Given the description of an element on the screen output the (x, y) to click on. 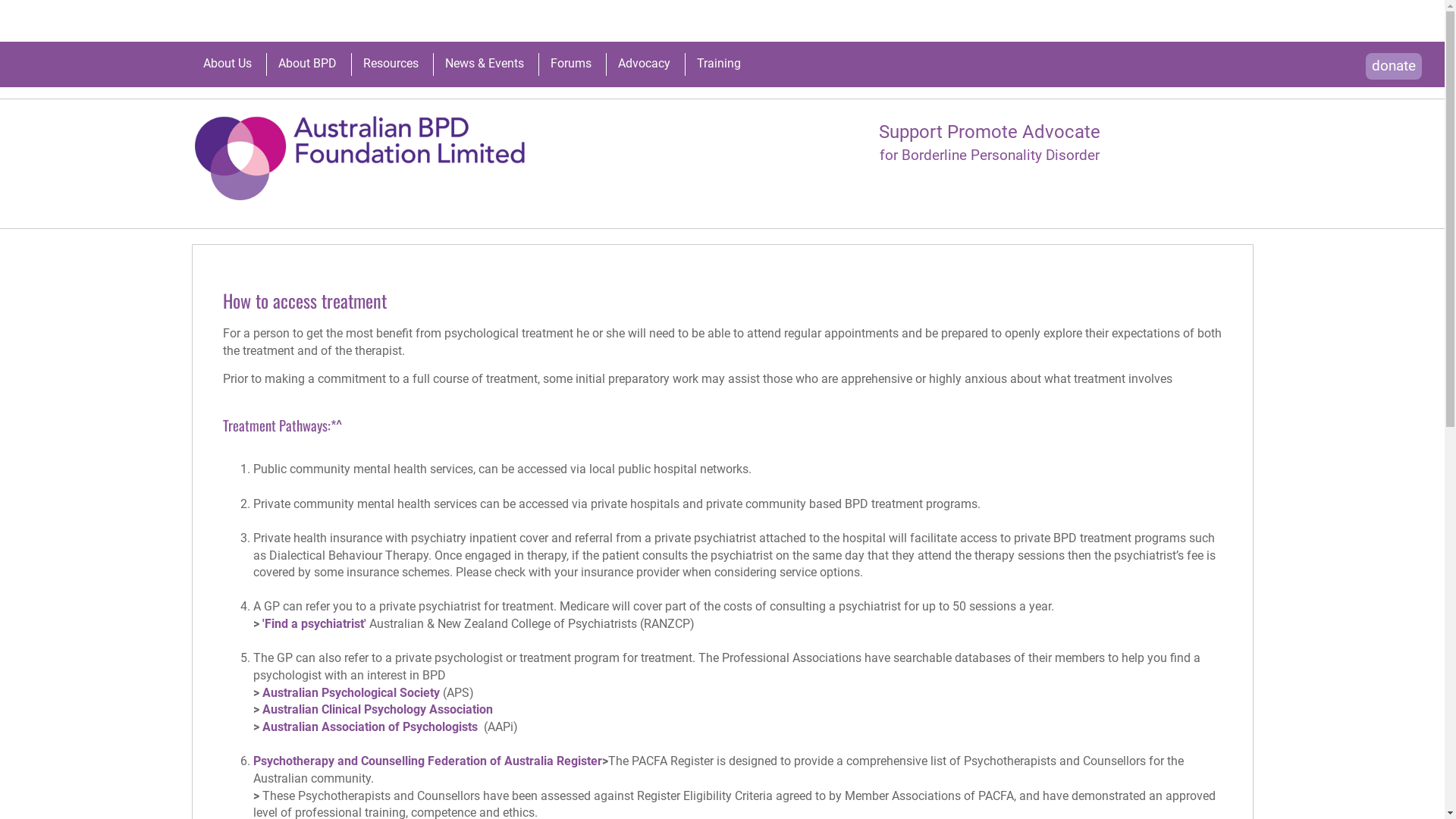
Australian Association of Psychologists Element type: text (371, 726)
Australian Clinical Psychology Association Element type: text (377, 709)
Advocacy Element type: text (643, 63)
About BPD Element type: text (306, 63)
Australian Psychological Society Element type: text (352, 692)
Training Element type: text (718, 63)
donate Element type: text (1393, 66)
Forums Element type: text (570, 63)
Resources Element type: text (389, 63)
News & Events Element type: text (483, 63)
About Us Element type: text (227, 63)
'Find a psychiatrist' Element type: text (314, 623)
